Given the description of an element on the screen output the (x, y) to click on. 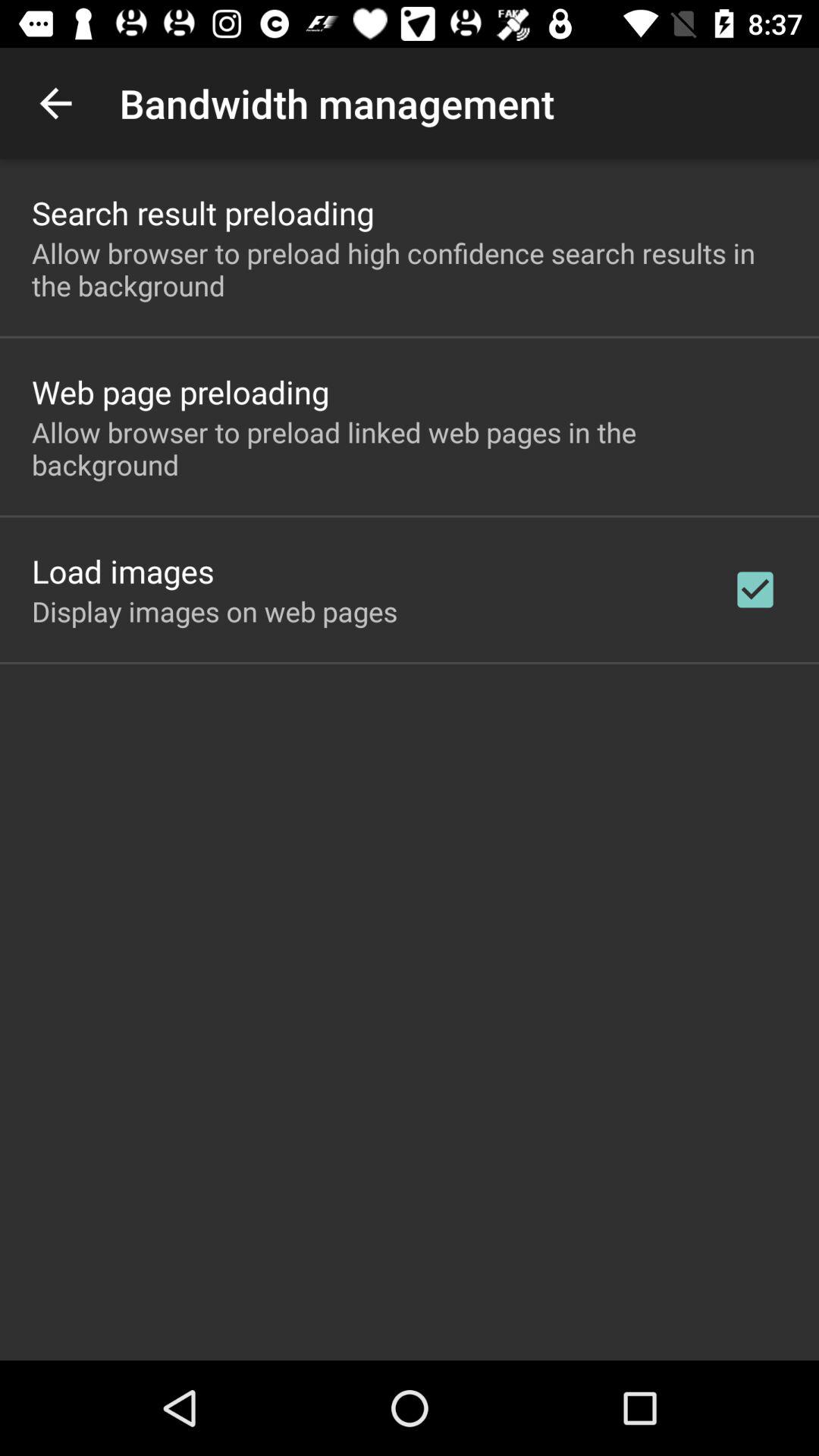
turn on icon above the allow browser to item (180, 391)
